Given the description of an element on the screen output the (x, y) to click on. 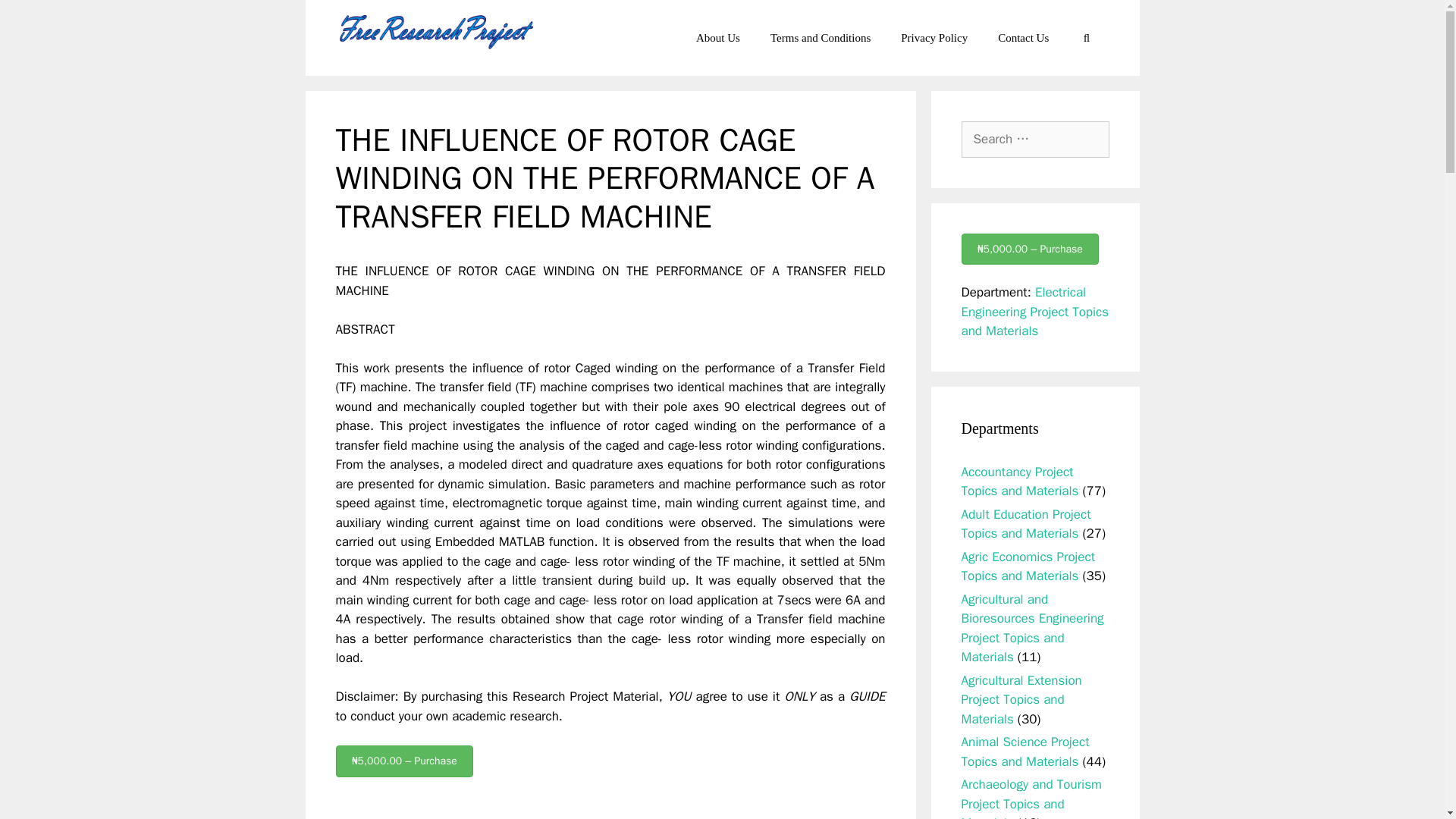
Search (35, 18)
Search for: (1034, 139)
Privacy Policy (933, 37)
Contact Us (1023, 37)
Accountancy Project Topics and Materials (1019, 481)
Electrical Engineering Project Topics and Materials (1034, 311)
Animal Science Project Topics and Materials (1024, 751)
Terms and Conditions (820, 37)
Agricultural Extension Project Topics and Materials (1020, 699)
